Given the description of an element on the screen output the (x, y) to click on. 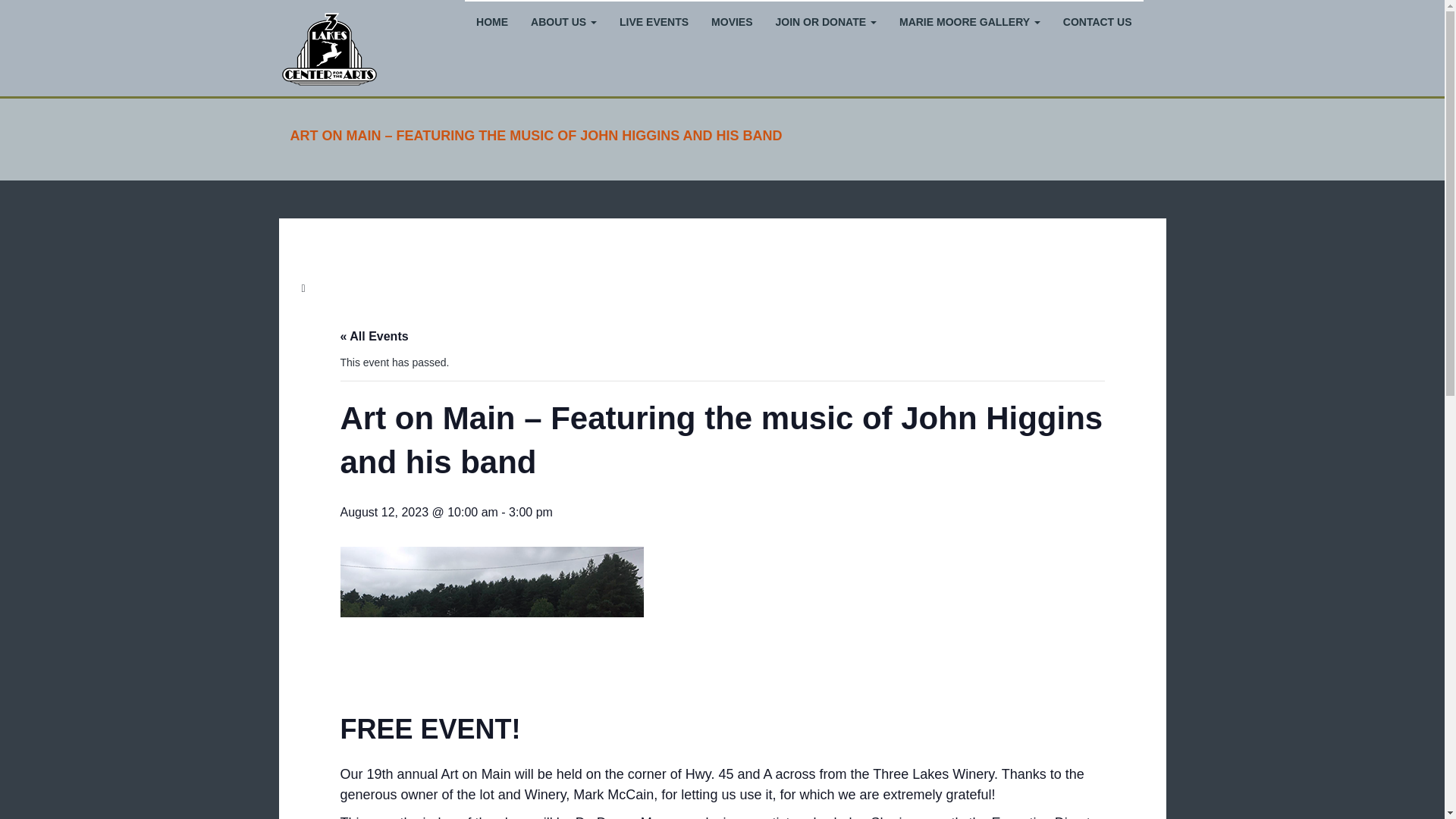
About Us (563, 21)
MOVIES (731, 21)
JOIN OR DONATE (826, 21)
MARIE MOORE GALLERY (969, 21)
CONTACT US (1096, 21)
Marie Moore Gallery (969, 21)
Movies (731, 21)
Join or Donate (826, 21)
ABOUT US (563, 21)
HOME (491, 21)
